Given the description of an element on the screen output the (x, y) to click on. 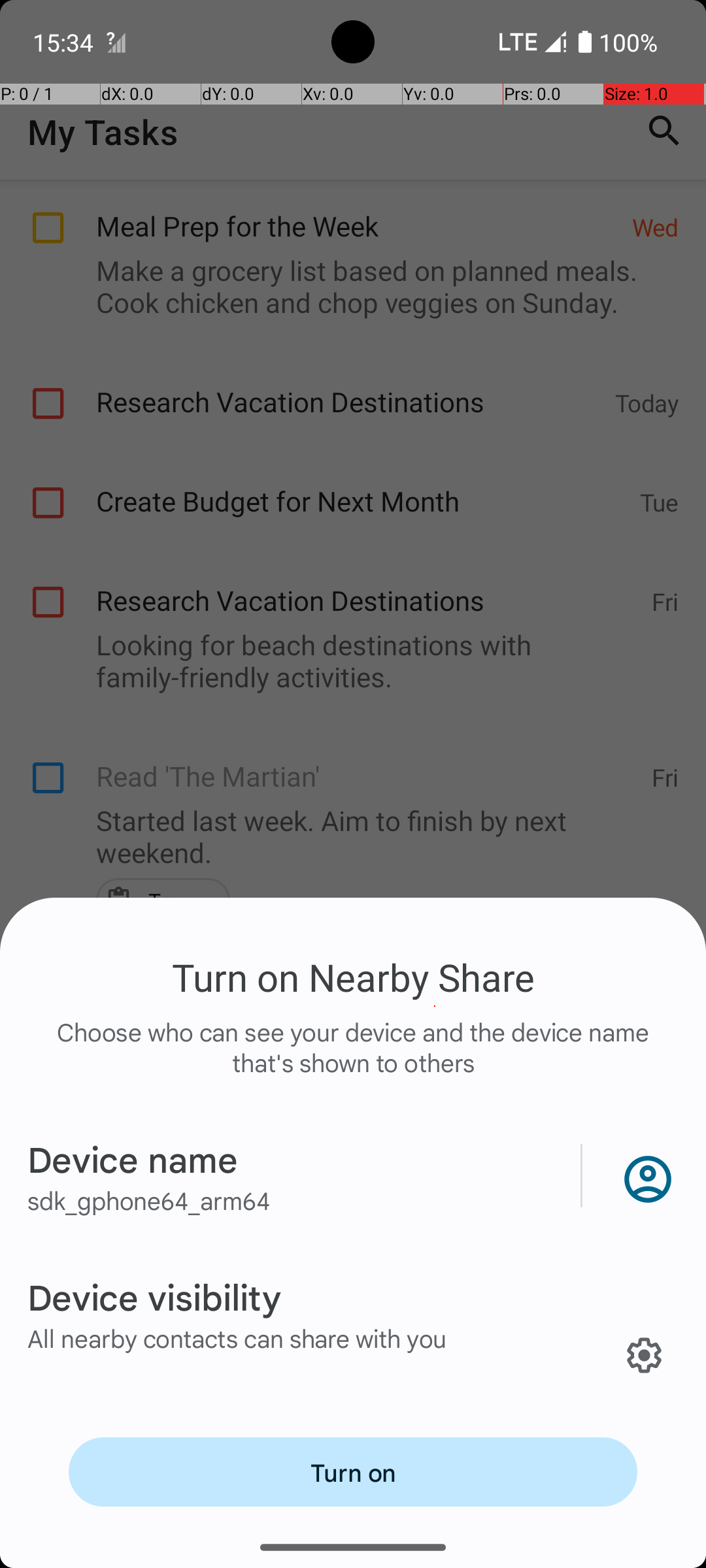
Turn on Nearby Share Element type: android.widget.TextView (353, 976)
Choose who can see your device and the device name that's shown to others Element type: android.widget.TextView (353, 1060)
No account found Element type: android.widget.FrameLayout (644, 1175)
Turn on Element type: android.widget.Button (352, 1471)
All nearby contacts can share with you Element type: android.widget.TextView (237, 1338)
